Given the description of an element on the screen output the (x, y) to click on. 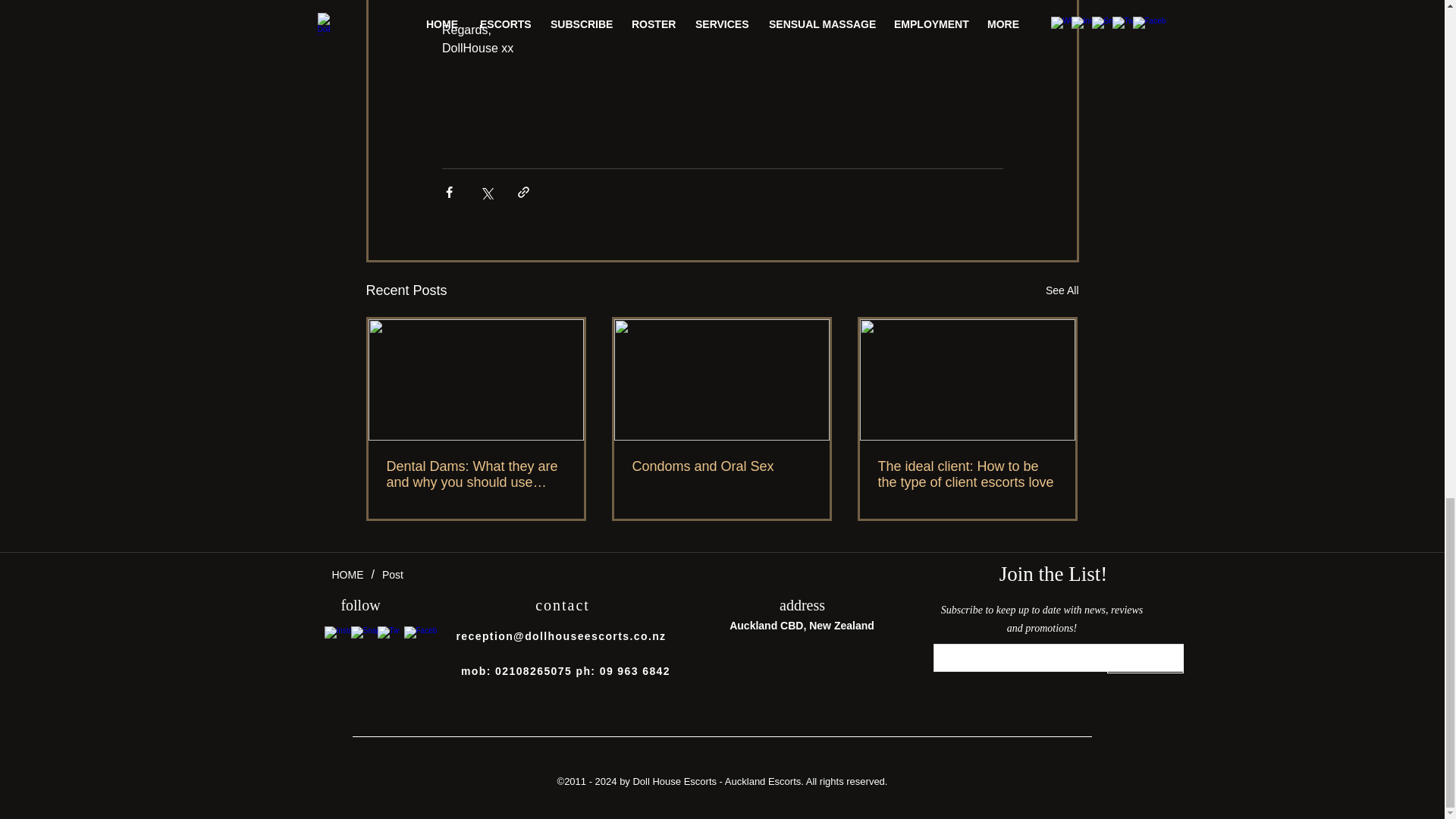
The ideal client: How to be the type of client escorts love (967, 474)
Dental Dams: What they are and why you should use them (476, 474)
Condoms and Oral Sex (720, 466)
See All (1061, 291)
HOME (347, 574)
Post (392, 574)
